Given the description of an element on the screen output the (x, y) to click on. 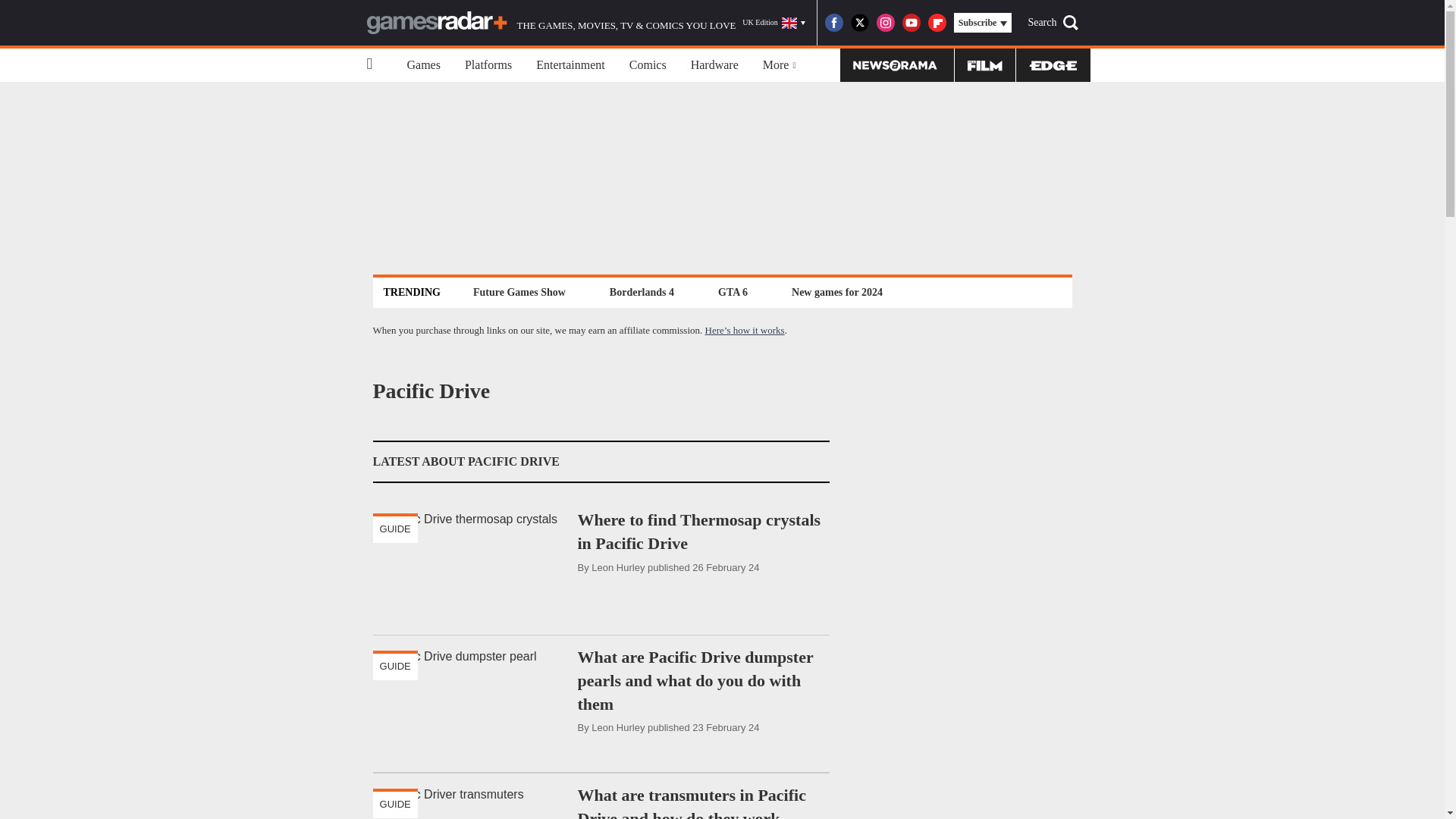
Future Games Show (518, 292)
New games for 2024 (837, 292)
GTA 6 (732, 292)
Hardware (714, 64)
Games (422, 64)
Comics (647, 64)
Borderlands 4 (641, 292)
UK Edition (773, 22)
Platforms (488, 64)
Entertainment (570, 64)
